Given the description of an element on the screen output the (x, y) to click on. 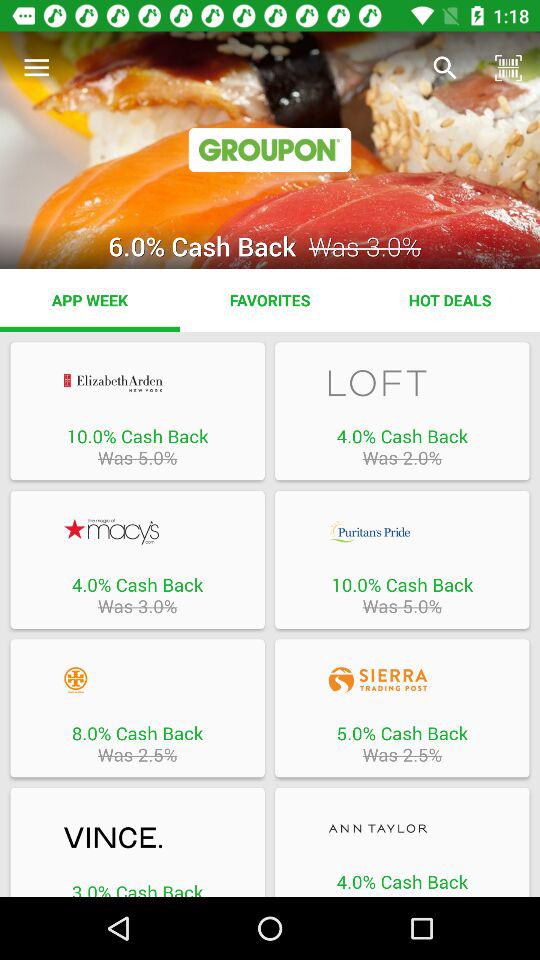
leads to ann taylor website (402, 828)
